Given the description of an element on the screen output the (x, y) to click on. 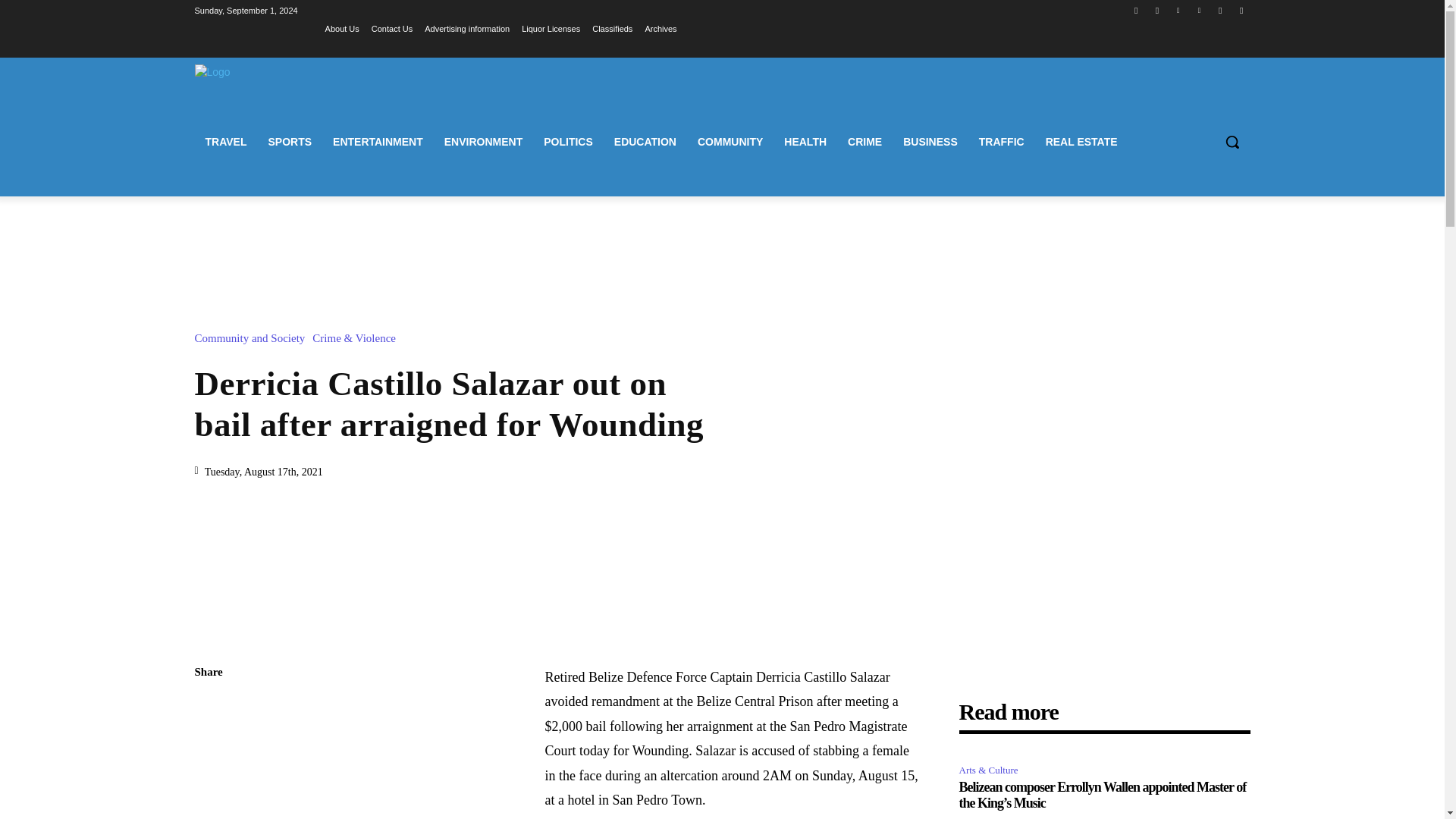
Pinterest (1199, 9)
About Us (341, 28)
HEALTH (805, 141)
ENTERTAINMENT (377, 141)
TRAFFIC (1001, 141)
Archives (661, 28)
COMMUNITY (730, 141)
Liquor Licenses (550, 28)
Youtube (1241, 9)
EDUCATION (645, 141)
